Given the description of an element on the screen output the (x, y) to click on. 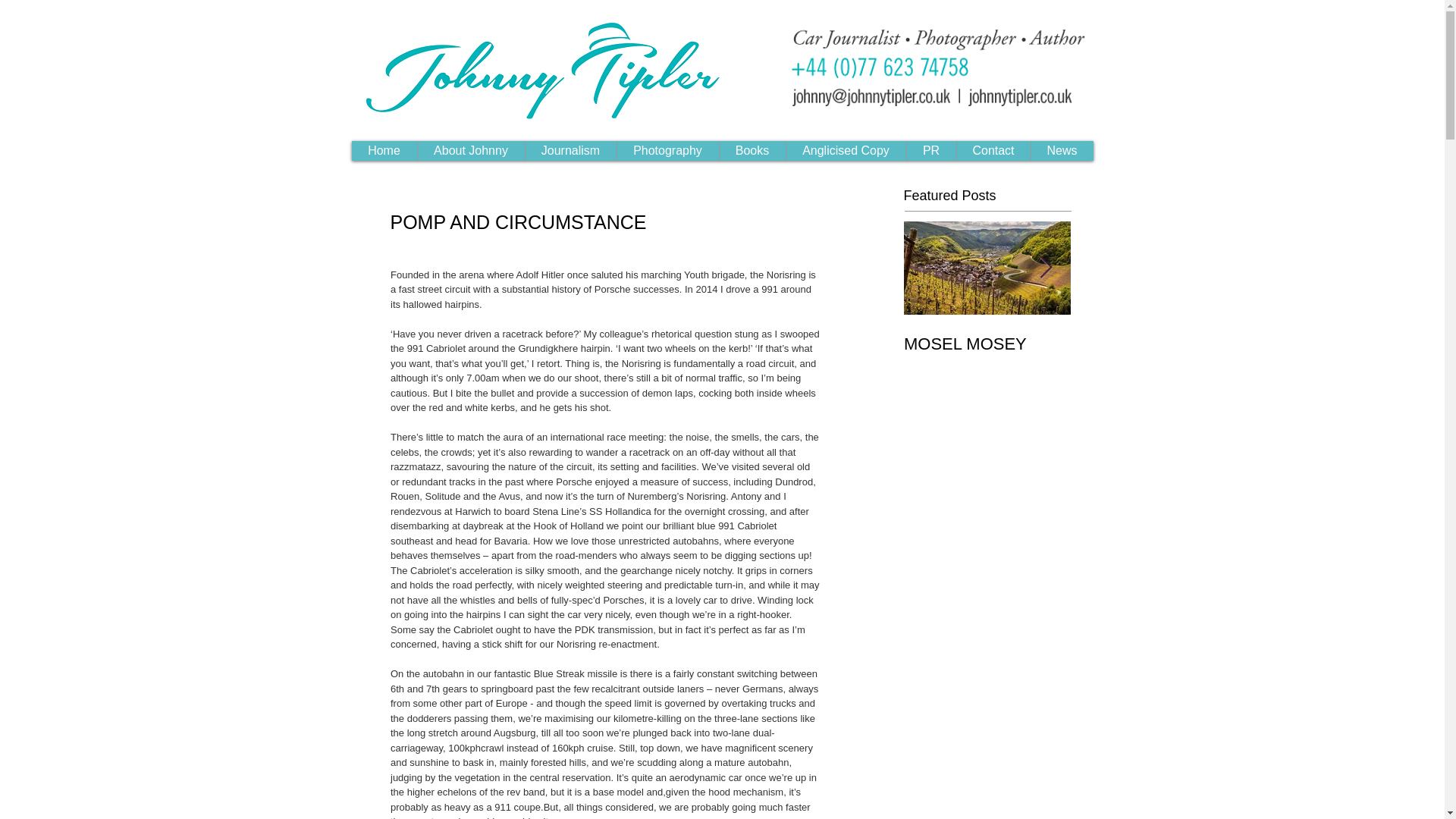
News (1061, 150)
Journalism (569, 150)
MOSEL MOSEY (987, 343)
hat peppermint.png (547, 70)
About Johnny (470, 150)
NEW banner text only.png (936, 66)
PR (930, 150)
Anglicised Copy (845, 150)
Photography (666, 150)
Home (384, 150)
